Given the description of an element on the screen output the (x, y) to click on. 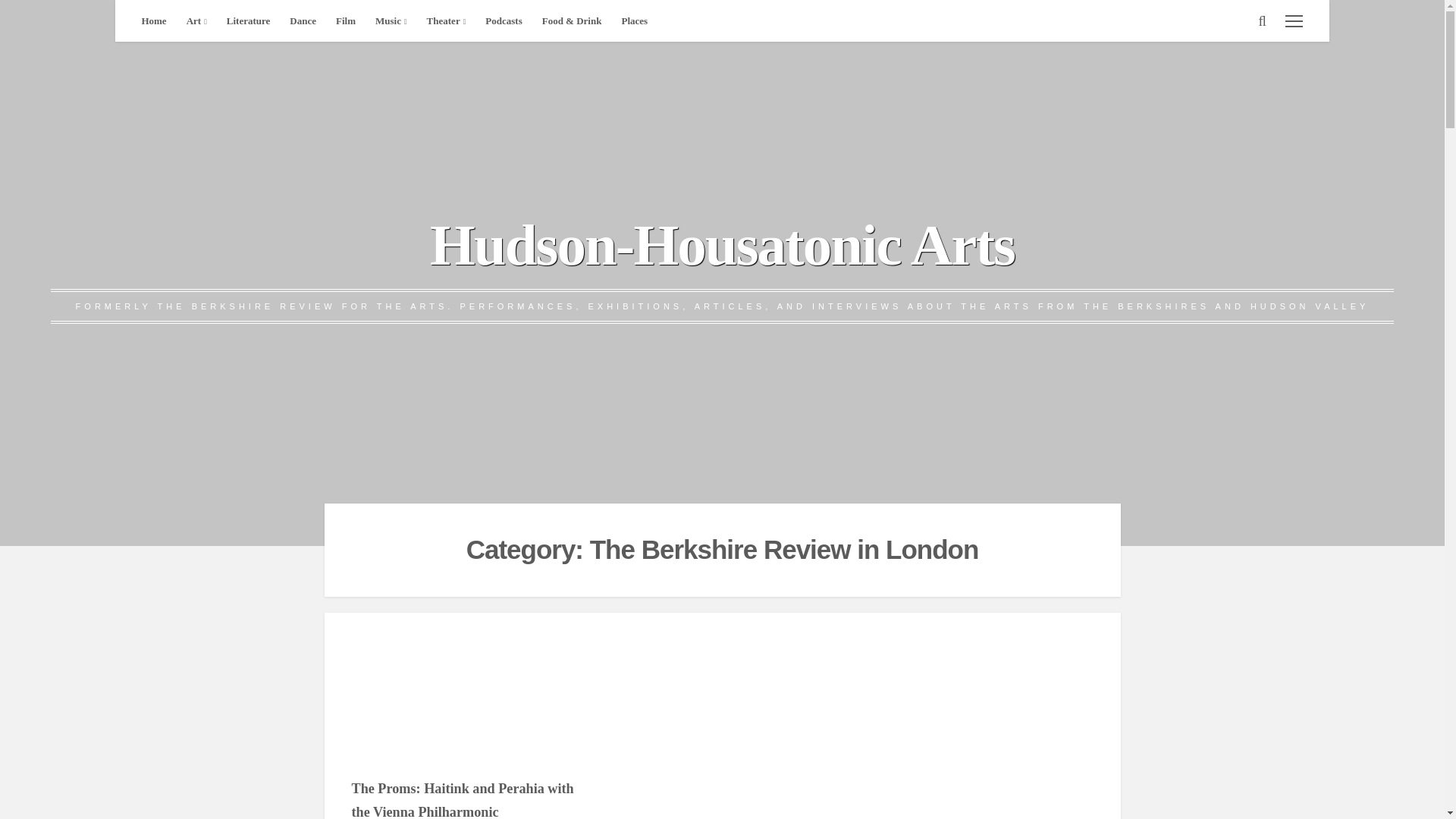
Podcasts (503, 20)
Hudson-Housatonic Arts (721, 244)
Dance (302, 20)
Art (196, 20)
The Proms: Haitink and Perahia with the Vienna Philharmonic (462, 800)
Home (153, 20)
Places (634, 20)
Music (390, 20)
Theater (446, 20)
Film (345, 20)
Literature (248, 20)
The Proms: Haitink and Perahia with the Vienna Philharmonic (464, 702)
